Given the description of an element on the screen output the (x, y) to click on. 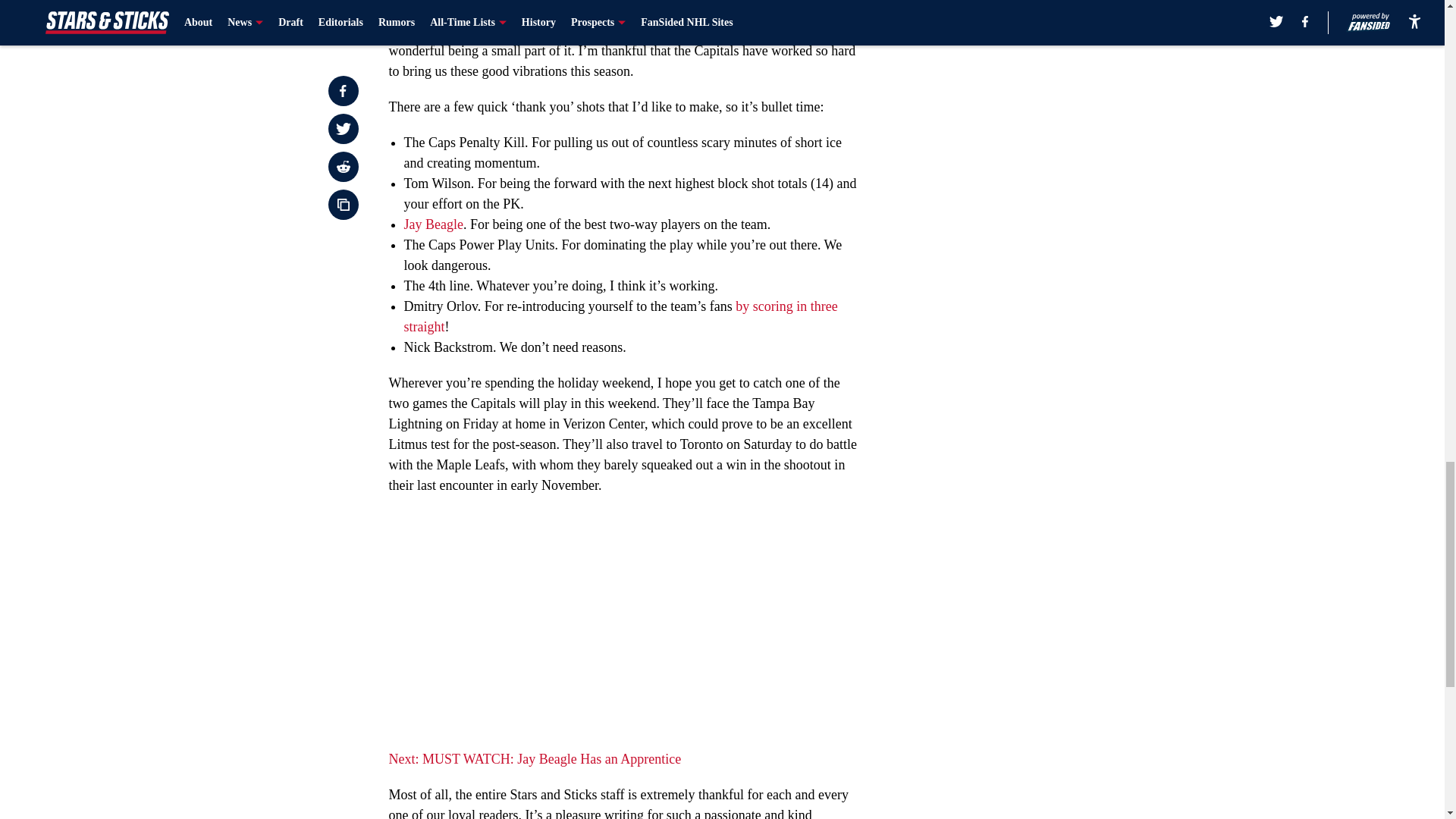
Jay Beagle (433, 224)
by scoring in three straight (620, 316)
